Given the description of an element on the screen output the (x, y) to click on. 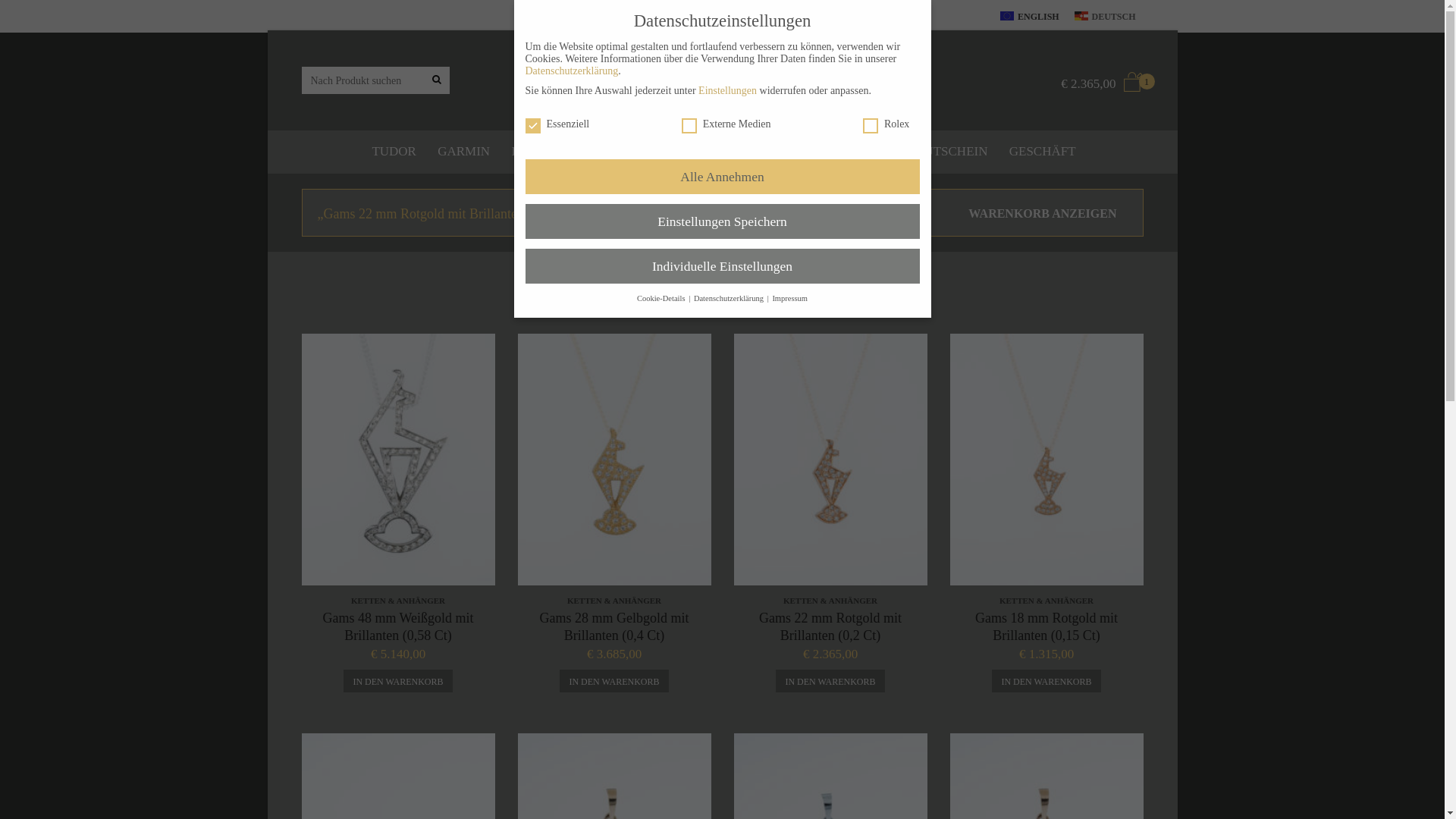
WARENKORB ANZEIGEN Element type: text (1042, 213)
Nach Produkt suchen Element type: text (435, 80)
Individuelle Einstellungen Element type: text (721, 265)
Impressum Element type: text (789, 298)
IN DEN WARENKORB Element type: text (397, 680)
ENGLISH Element type: text (1029, 16)
LIFESTYLESCHMUCK Element type: text (823, 151)
Cookie-Details Element type: text (662, 298)
GUTSCHEIN Element type: text (950, 151)
Einstellungen Element type: text (727, 90)
KB UHR Element type: text (539, 151)
Alle Annehmen Element type: text (721, 176)
IN DEN WARENKORB Element type: text (613, 680)
IN DEN WARENKORB Element type: text (1045, 680)
DEUTSCH Element type: text (1104, 16)
TUDOR Element type: text (393, 151)
GARMIN Element type: text (463, 151)
Einstellungen Speichern Element type: text (721, 220)
IN DEN WARENKORB Element type: text (829, 680)
